Given the description of an element on the screen output the (x, y) to click on. 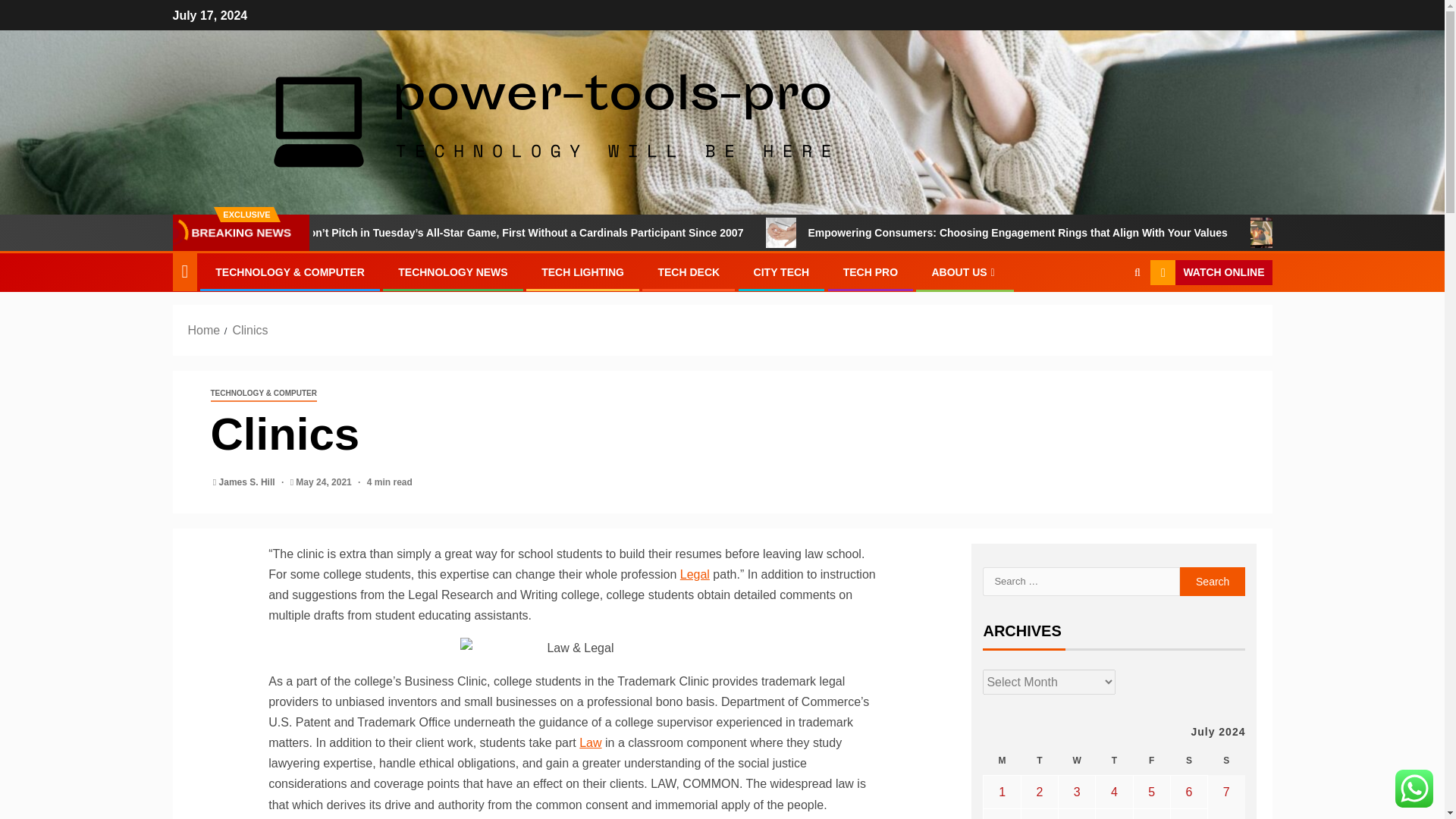
Search (1107, 318)
Search (1136, 272)
James S. Hill (248, 481)
Clinics (249, 329)
Home (204, 329)
Search (1212, 581)
WATCH ONLINE (1210, 272)
ABOUT US (964, 272)
CITY TECH (781, 272)
TECH LIGHTING (582, 272)
Legal (694, 574)
Law (590, 742)
Search (1212, 581)
TECH PRO (870, 272)
